Given the description of an element on the screen output the (x, y) to click on. 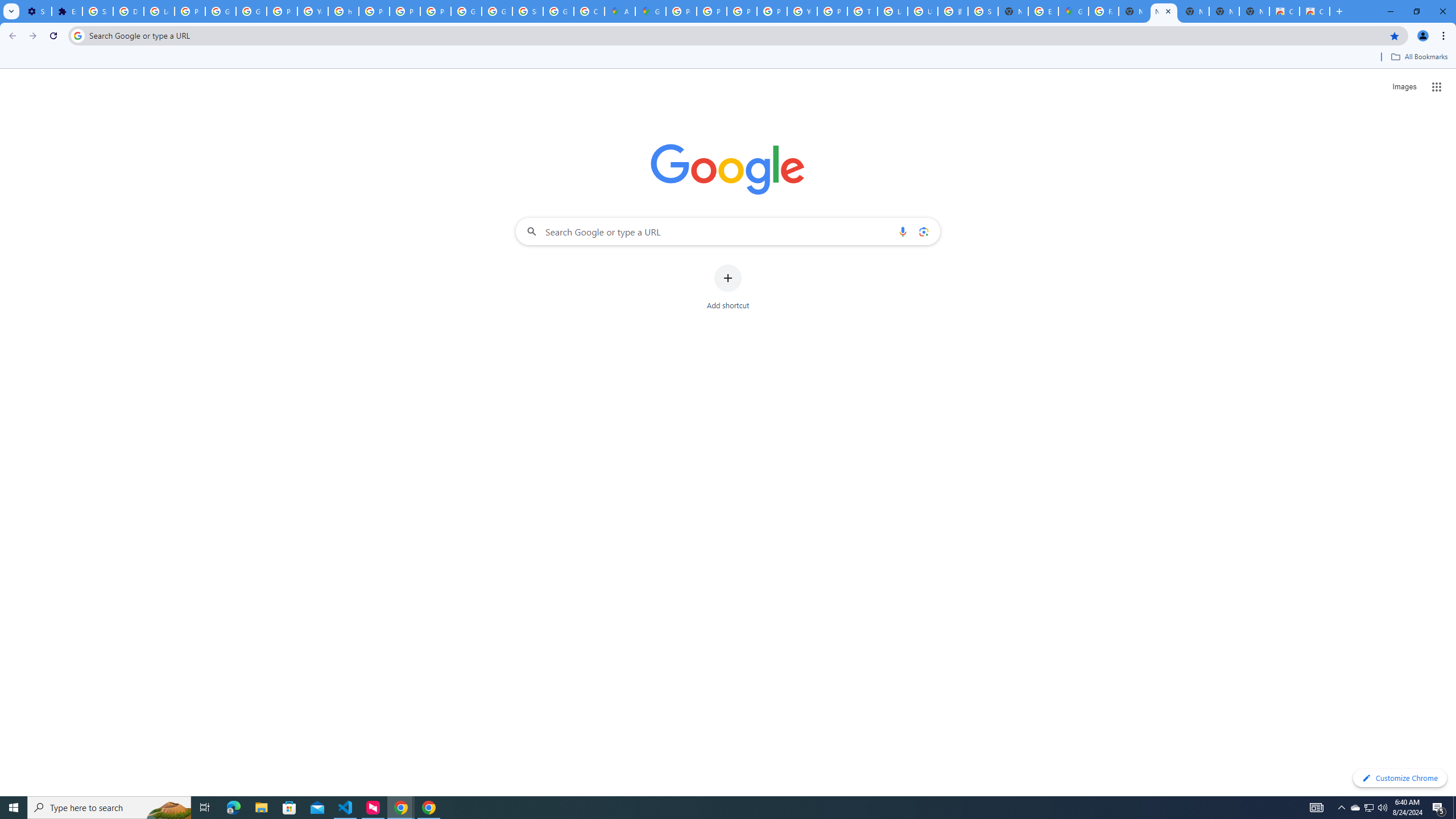
Learn how to find your photos - Google Photos Help (158, 11)
Add shortcut (727, 287)
Classic Blue - Chrome Web Store (1314, 11)
Bookmarks (728, 58)
Search for Images  (1403, 87)
YouTube (312, 11)
Google Account Help (220, 11)
Search Google or type a URL (727, 230)
